Given the description of an element on the screen output the (x, y) to click on. 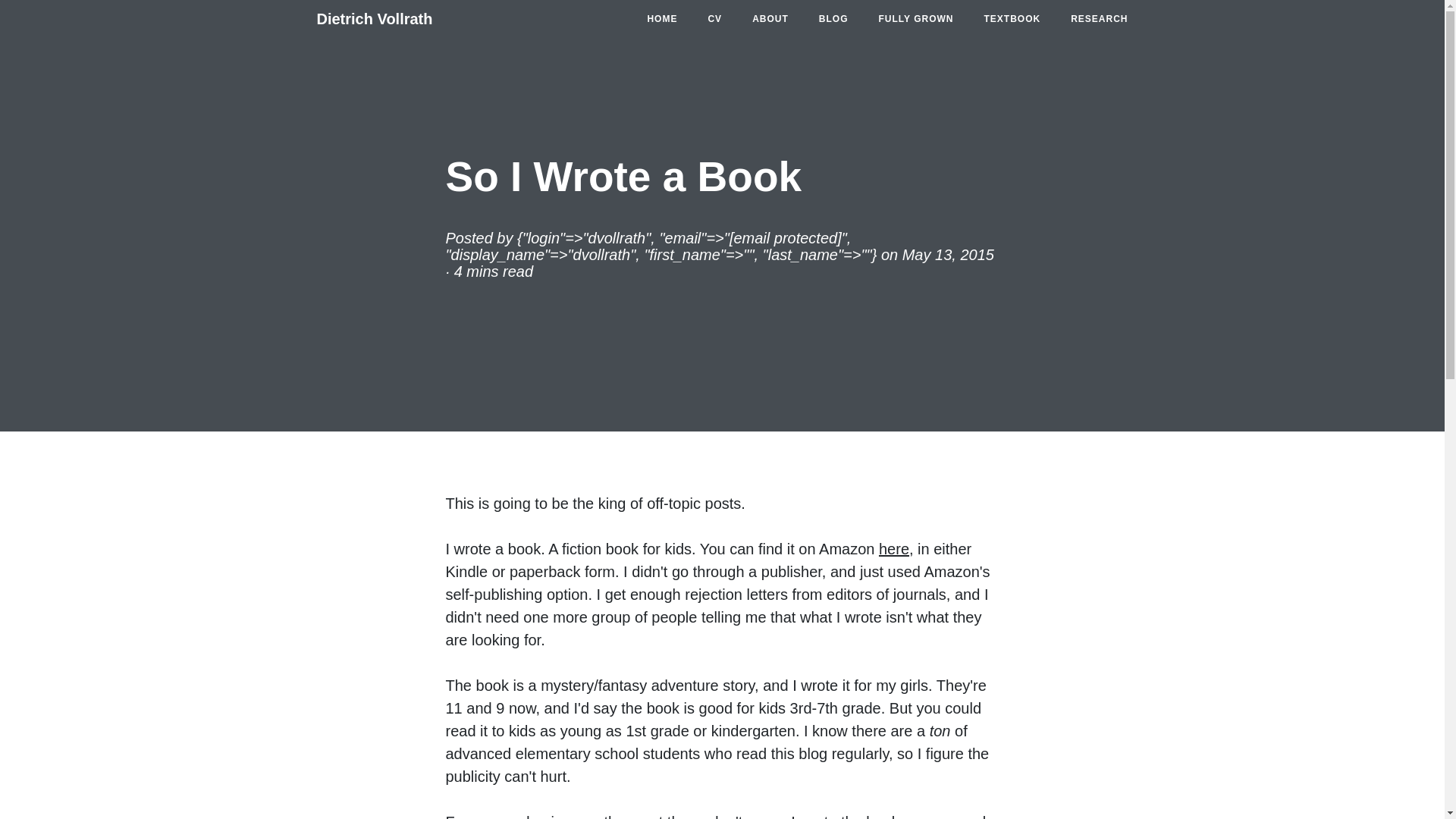
Dietrich Vollrath (374, 18)
RESEARCH (1098, 18)
Estimated read time (494, 271)
ABOUT (769, 18)
here (893, 548)
HOME (662, 18)
FULLY GROWN (915, 18)
TEXTBOOK (1011, 18)
BLOG (833, 18)
CV (714, 18)
